Given the description of an element on the screen output the (x, y) to click on. 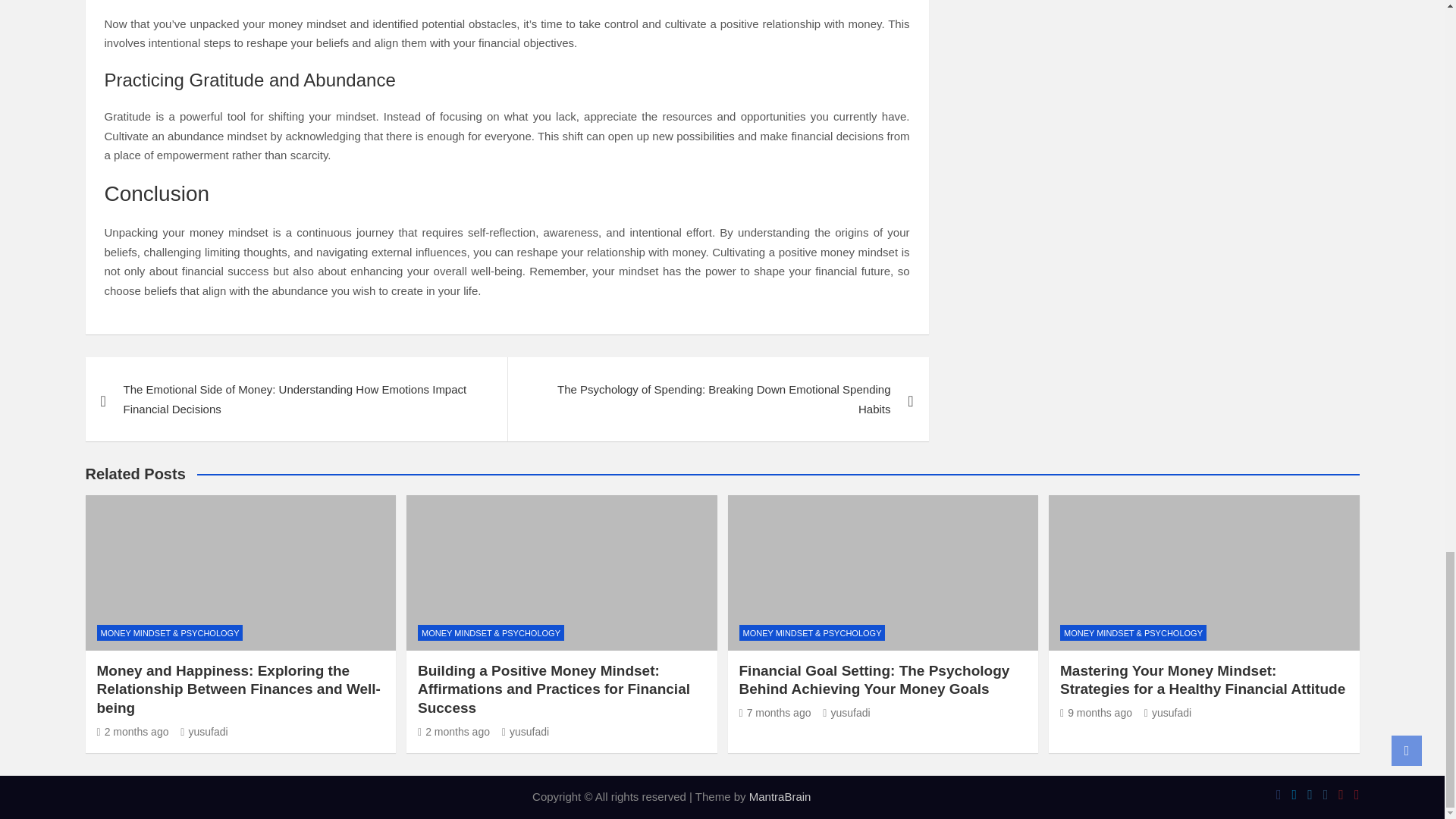
MantraBrain (779, 796)
